Given the description of an element on the screen output the (x, y) to click on. 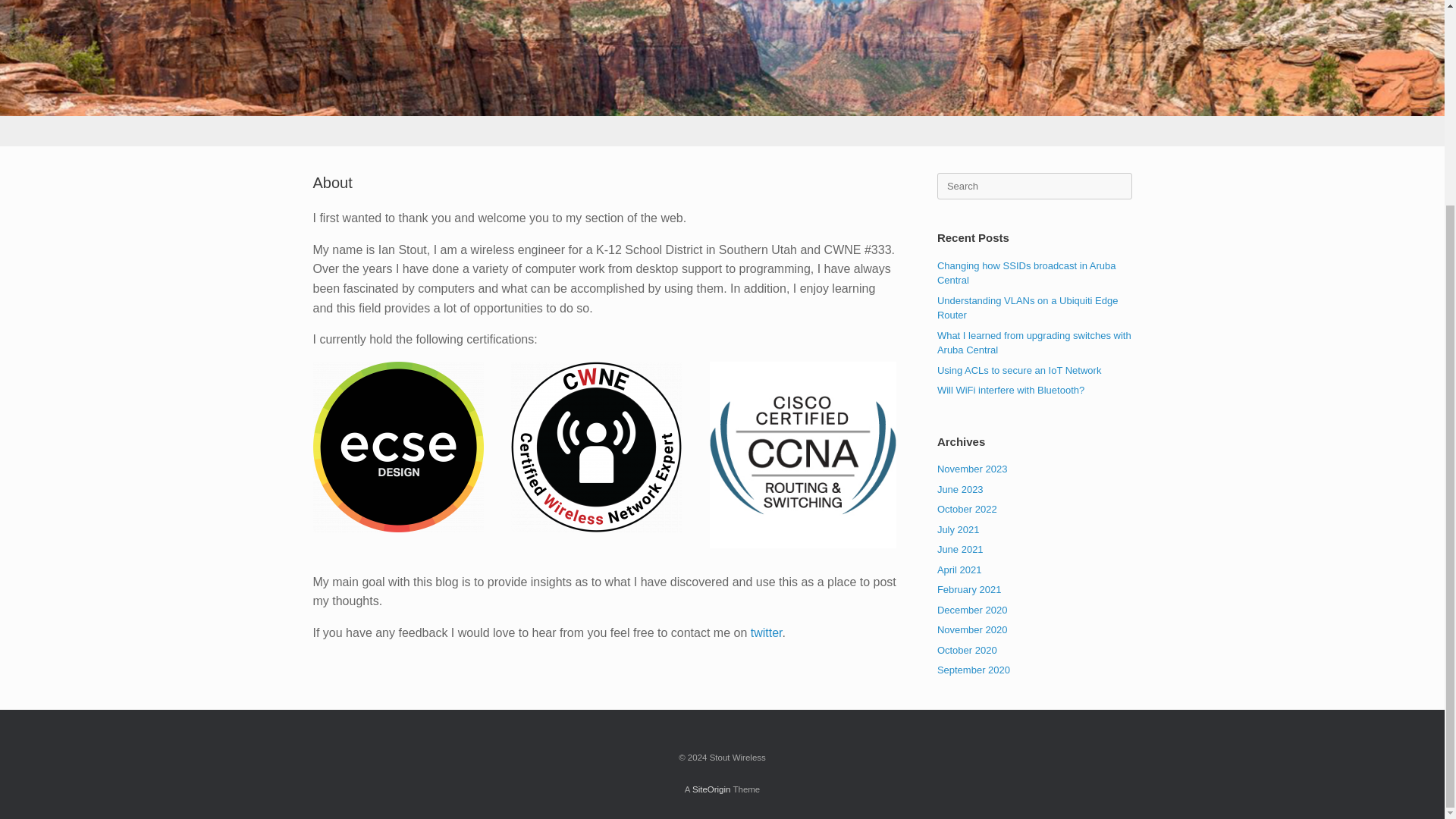
Will WiFi interfere with Bluetooth? (1010, 389)
December 2020 (972, 609)
Understanding VLANs on a Ubiquiti Edge Router (1027, 307)
Changing how SSIDs broadcast in Aruba Central (1026, 273)
November 2023 (972, 469)
April 2021 (959, 569)
September 2020 (973, 669)
June 2023 (960, 489)
twitter (767, 632)
Using ACLs to secure an IoT Network (1019, 369)
